Given the description of an element on the screen output the (x, y) to click on. 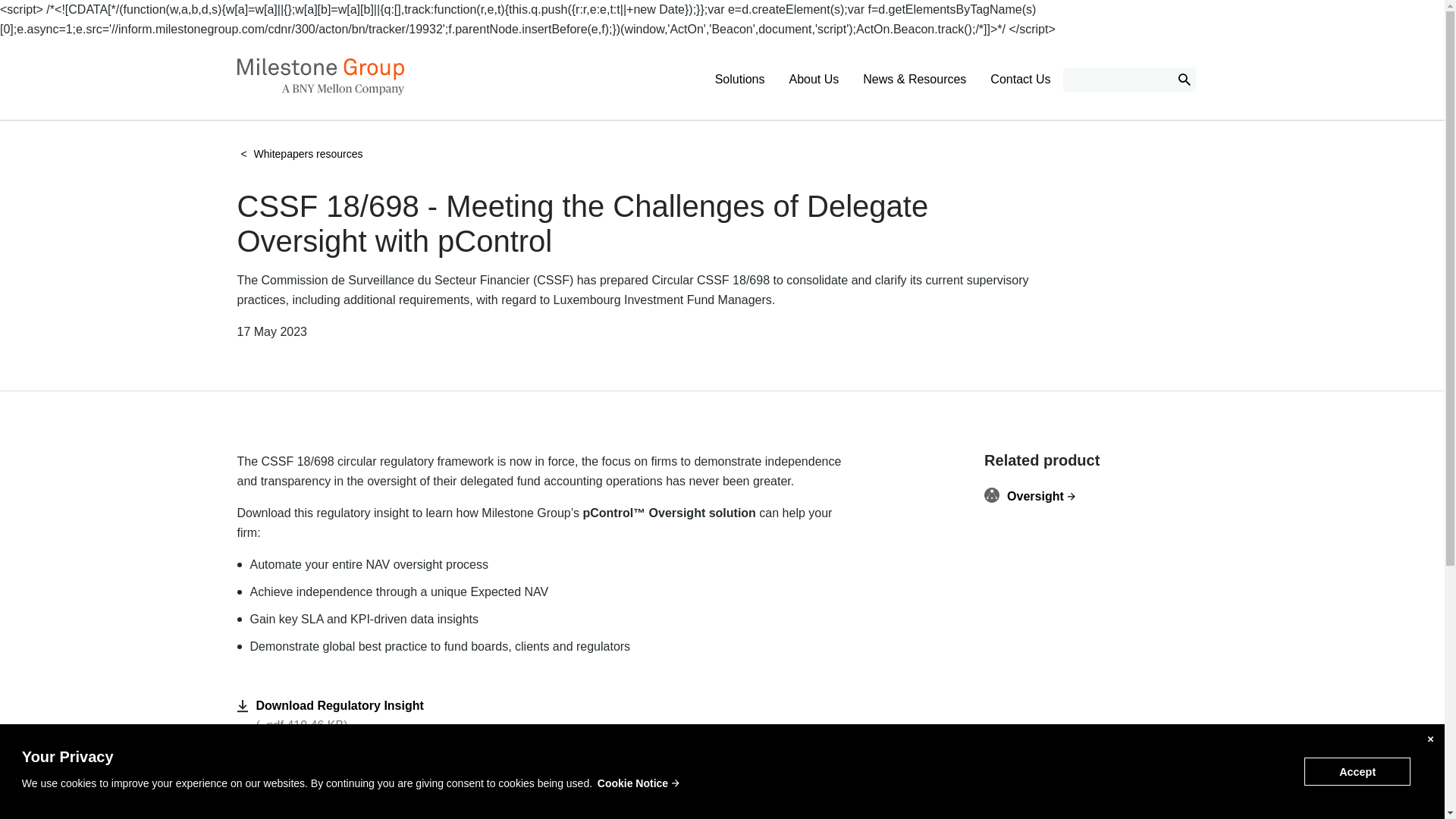
Search (1183, 79)
Oversight (1096, 496)
Enter the terms you wish to search for. (1128, 79)
About Us (813, 79)
Home (319, 91)
Contact Us (1019, 79)
Back to List (276, 785)
Accept (1357, 771)
Solutions (739, 79)
Download Regulatory Insight (339, 705)
Search (1183, 79)
Cookie Notice (638, 783)
Whitepapers resources (307, 153)
